Given the description of an element on the screen output the (x, y) to click on. 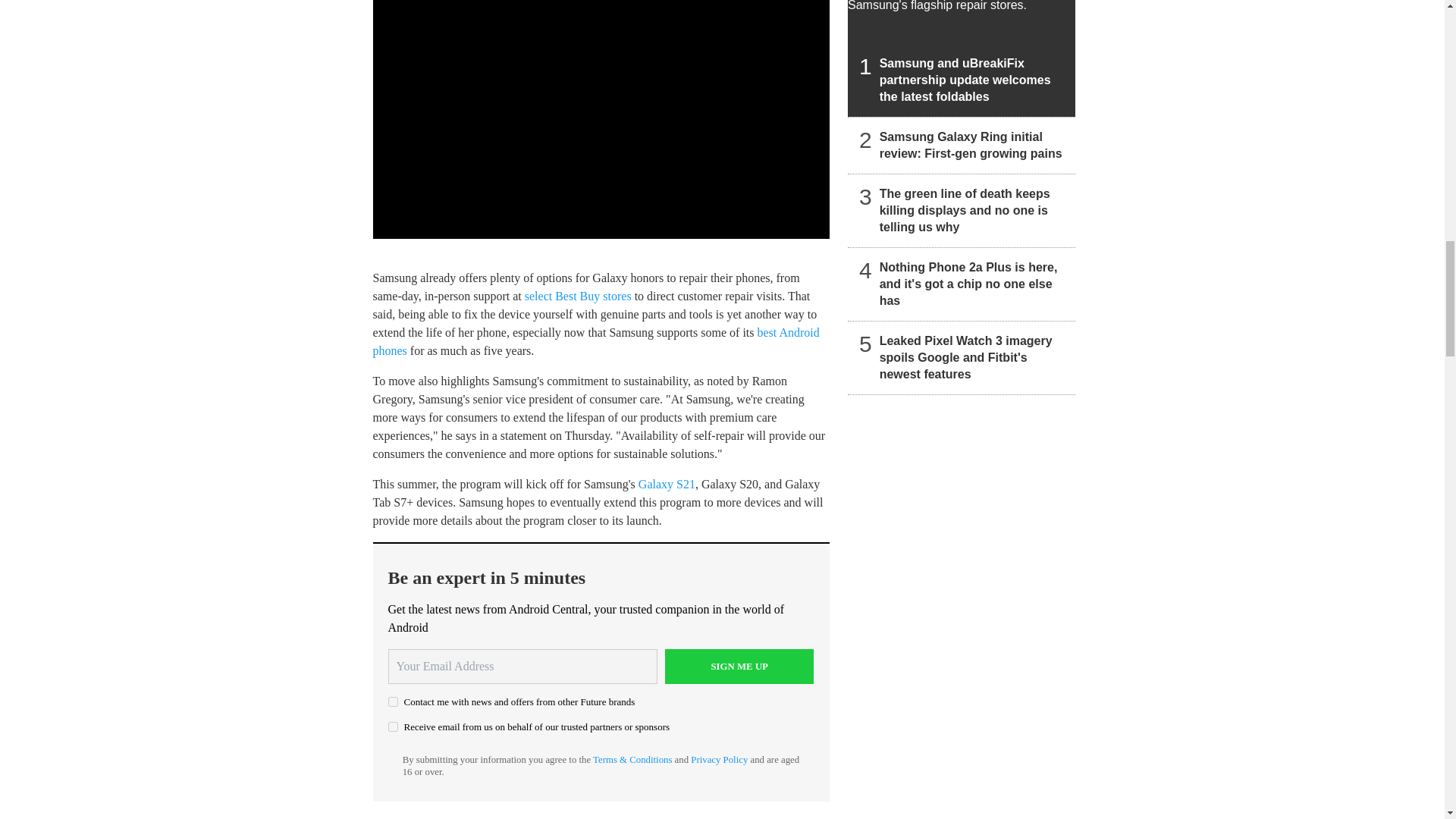
on (392, 726)
on (392, 701)
Sign me up (739, 666)
